Given the description of an element on the screen output the (x, y) to click on. 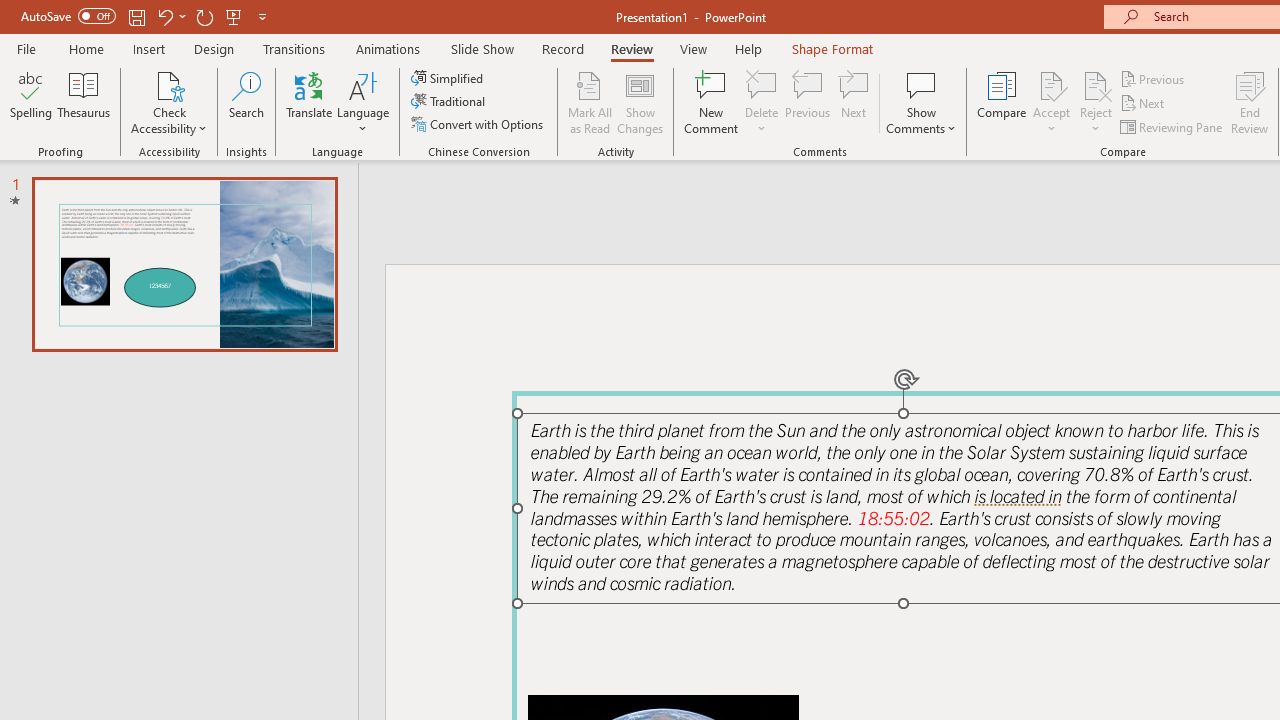
Translate (309, 102)
Previous (1153, 78)
Accept Change (1051, 84)
Next (1144, 103)
Simplified (449, 78)
Accept (1051, 102)
Compare (1002, 102)
